Given the description of an element on the screen output the (x, y) to click on. 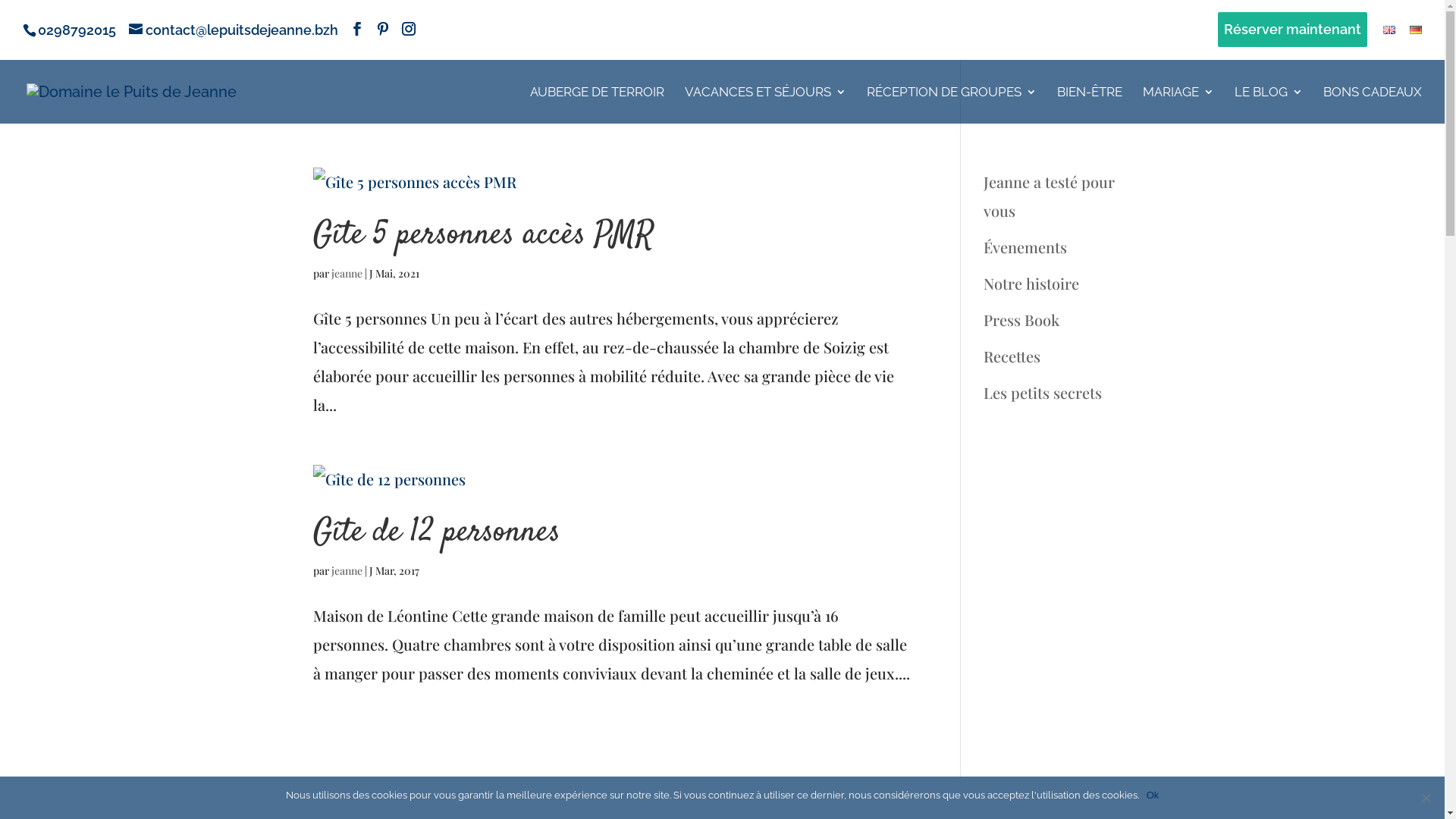
BONS CADEAUX Element type: text (1372, 104)
Les petits secrets Element type: text (1042, 392)
AUBERGE DE TERROIR Element type: text (597, 104)
Recettes Element type: text (1011, 355)
MARIAGE Element type: text (1178, 104)
LE BLOG Element type: text (1268, 104)
Ok Element type: text (1152, 795)
contact@lepuitsdejeanne.bzh Element type: text (233, 29)
Notre histoire Element type: text (1031, 283)
jeanne Element type: text (345, 273)
Press Book Element type: text (1021, 319)
jeanne Element type: text (345, 570)
Non Element type: hover (1425, 797)
